Given the description of an element on the screen output the (x, y) to click on. 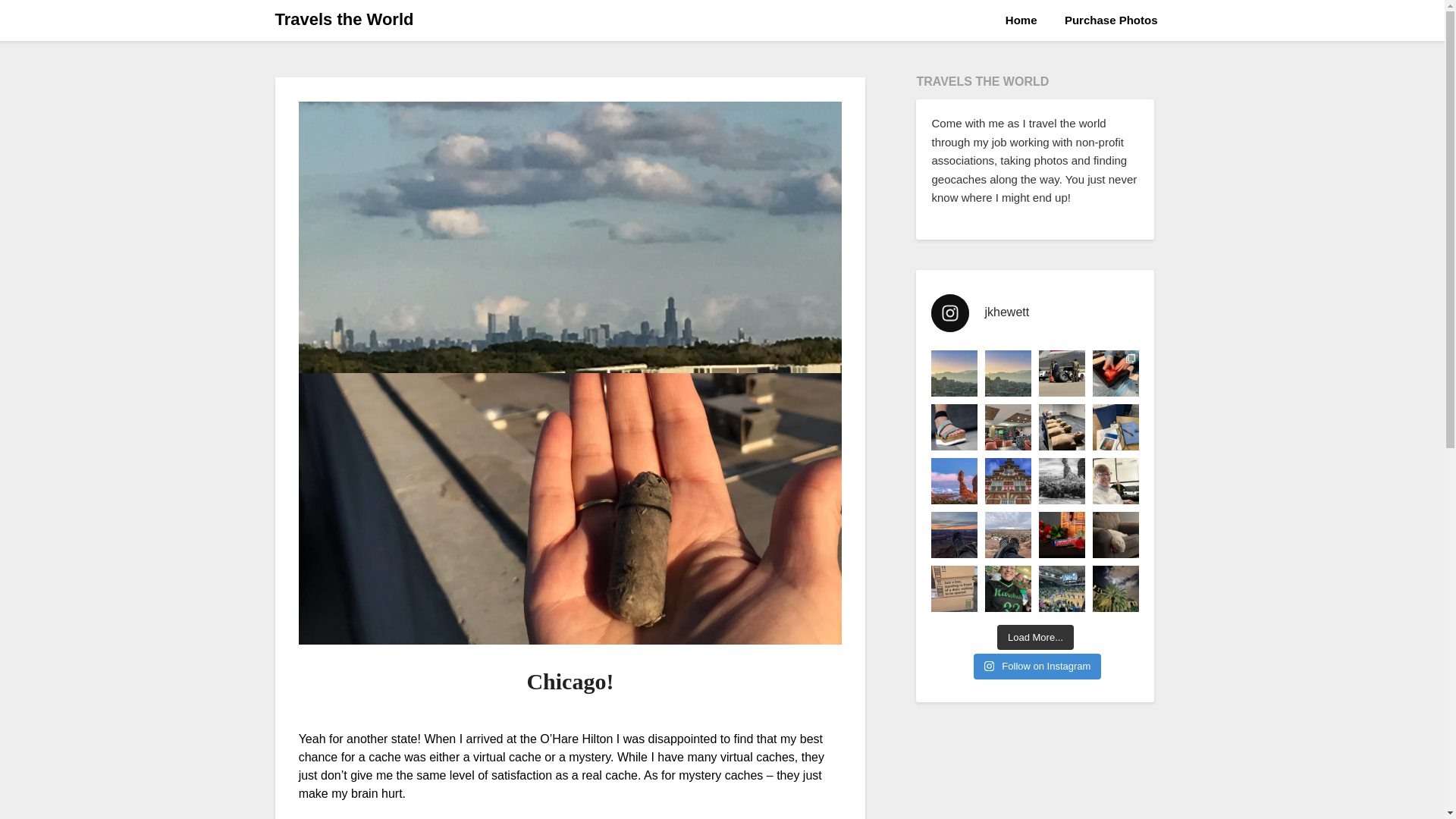
Purchase Photos (1111, 20)
jkhewett (1034, 313)
Travels the World (344, 19)
Follow on Instagram (1038, 666)
Load More... (1035, 637)
Home (1020, 20)
